Given the description of an element on the screen output the (x, y) to click on. 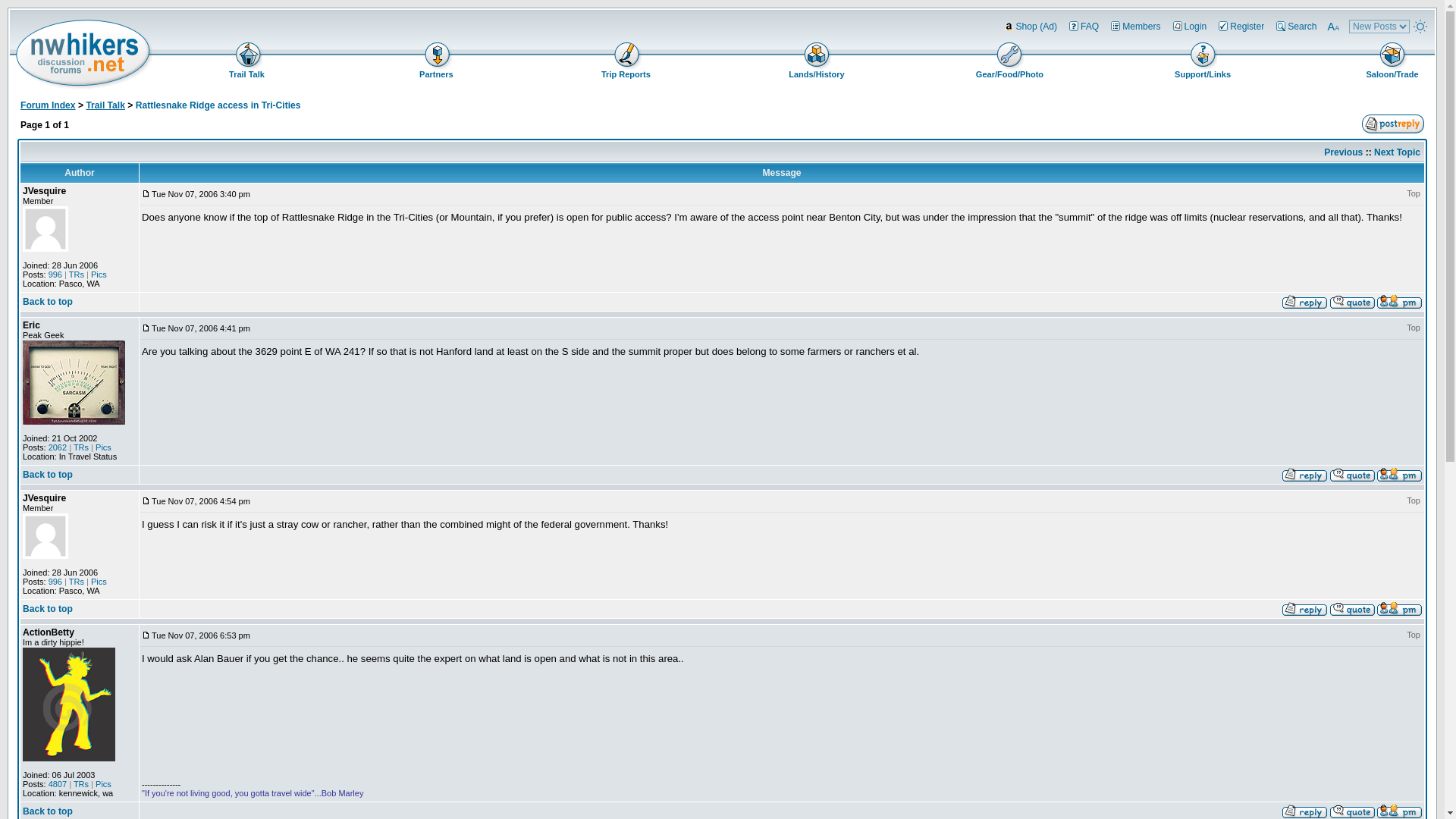
Shopping at amazon via this link will support NWHikers (1030, 25)
Partners (437, 60)
Login (1372, 4)
TRs (76, 274)
Search (1295, 25)
Post (146, 327)
Gear (1008, 60)
Forum Index (47, 104)
Previous (1342, 152)
Reply with quote (1352, 608)
Search (1395, 4)
FAQ (1083, 25)
Reply with quote (1352, 301)
